Given the description of an element on the screen output the (x, y) to click on. 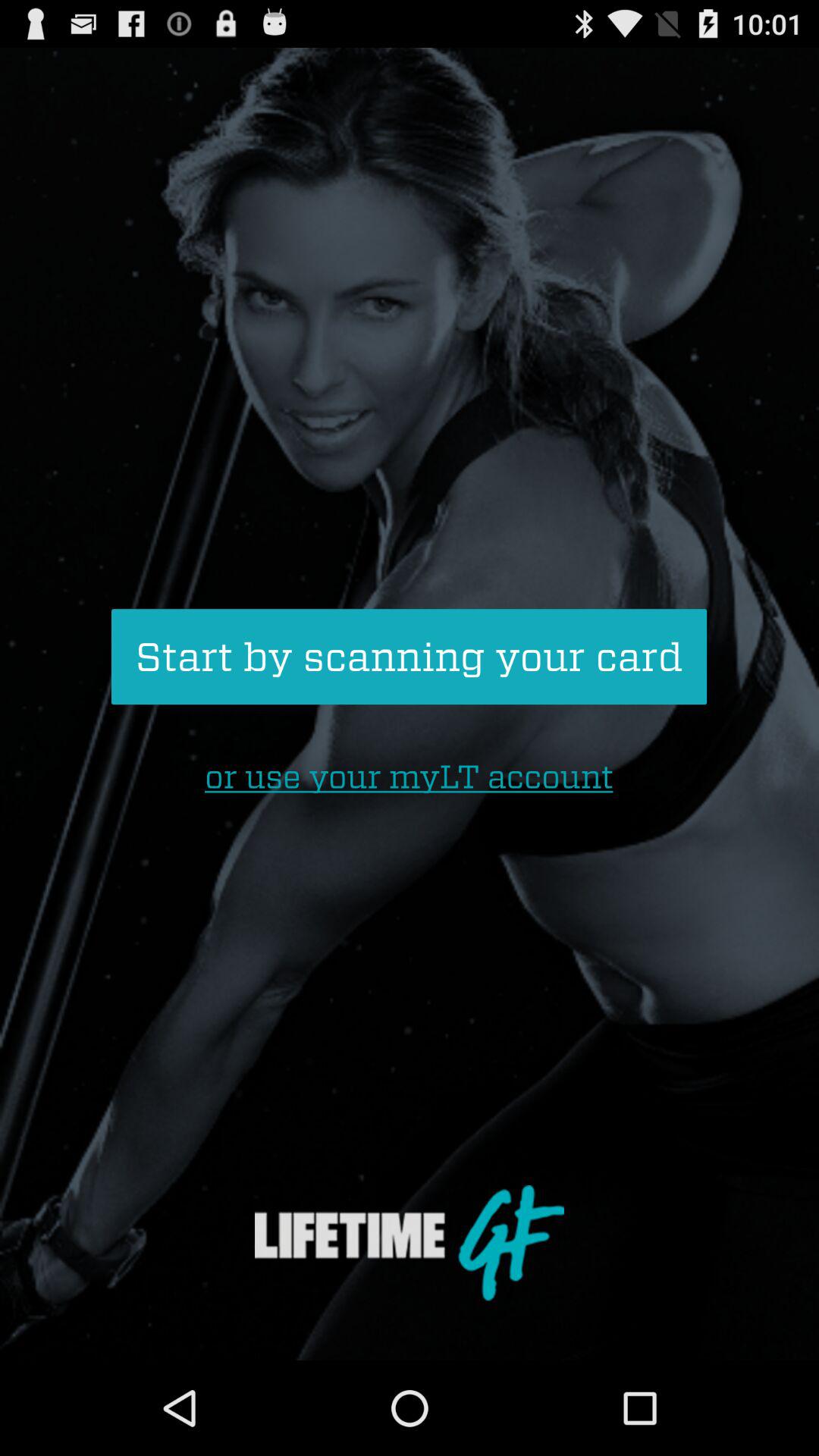
click or use your icon (408, 776)
